Given the description of an element on the screen output the (x, y) to click on. 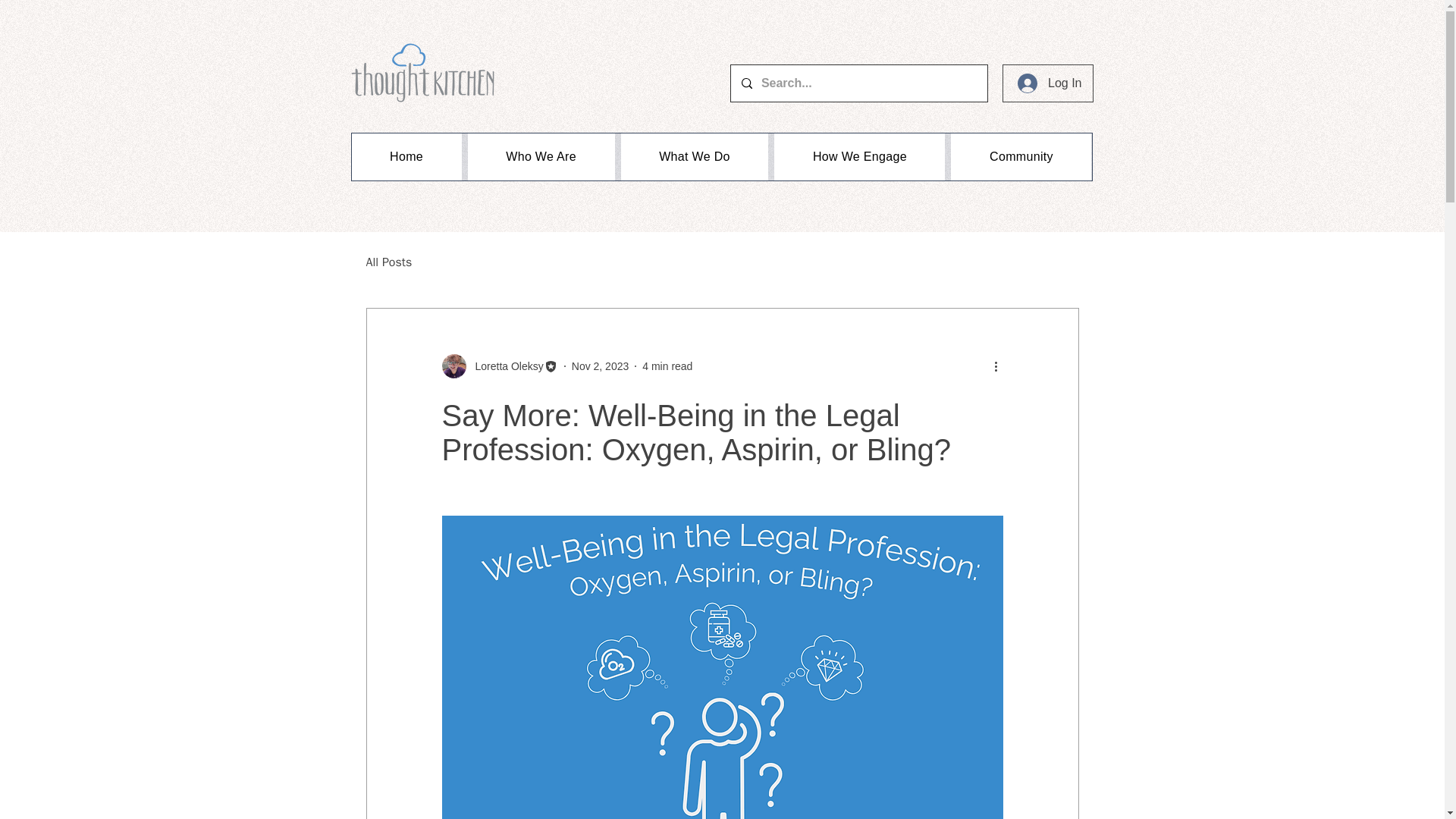
Home (406, 156)
What We Do (694, 156)
Who We Are (540, 156)
4 min read (667, 365)
Community (1020, 156)
Loretta Oleksy (499, 365)
How We Engage (859, 156)
Loretta Oleksy (504, 365)
Log In (1049, 82)
All Posts (388, 262)
Nov 2, 2023 (600, 365)
Click here to go to our homepage (421, 72)
